Given the description of an element on the screen output the (x, y) to click on. 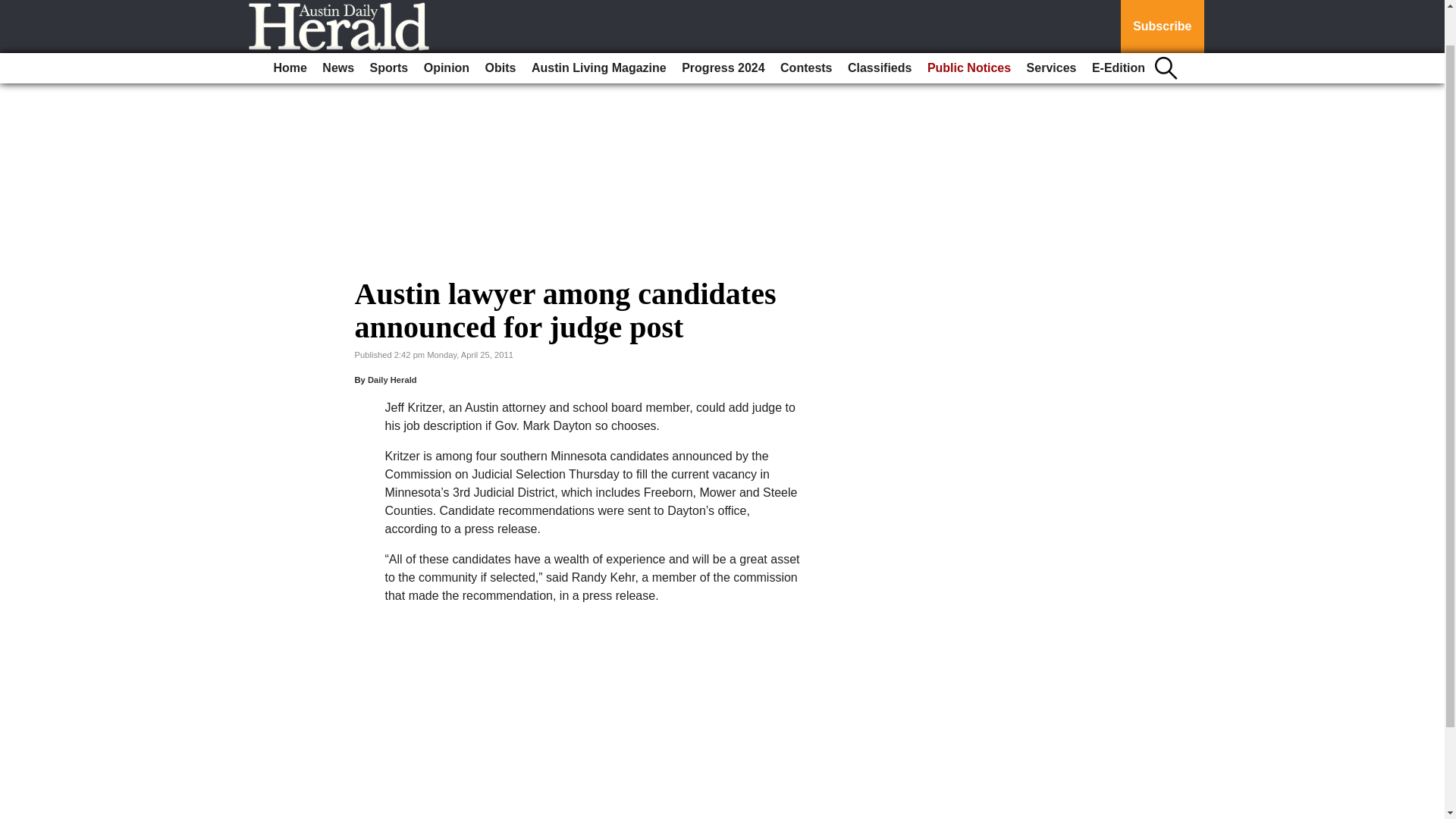
Austin Living Magazine (598, 26)
Opinion (446, 26)
Public Notices (968, 26)
Services (1051, 26)
Subscribe (1162, 5)
Home (289, 26)
Obits (500, 26)
Progress 2024 (722, 26)
News (337, 26)
Classifieds (879, 26)
